Given the description of an element on the screen output the (x, y) to click on. 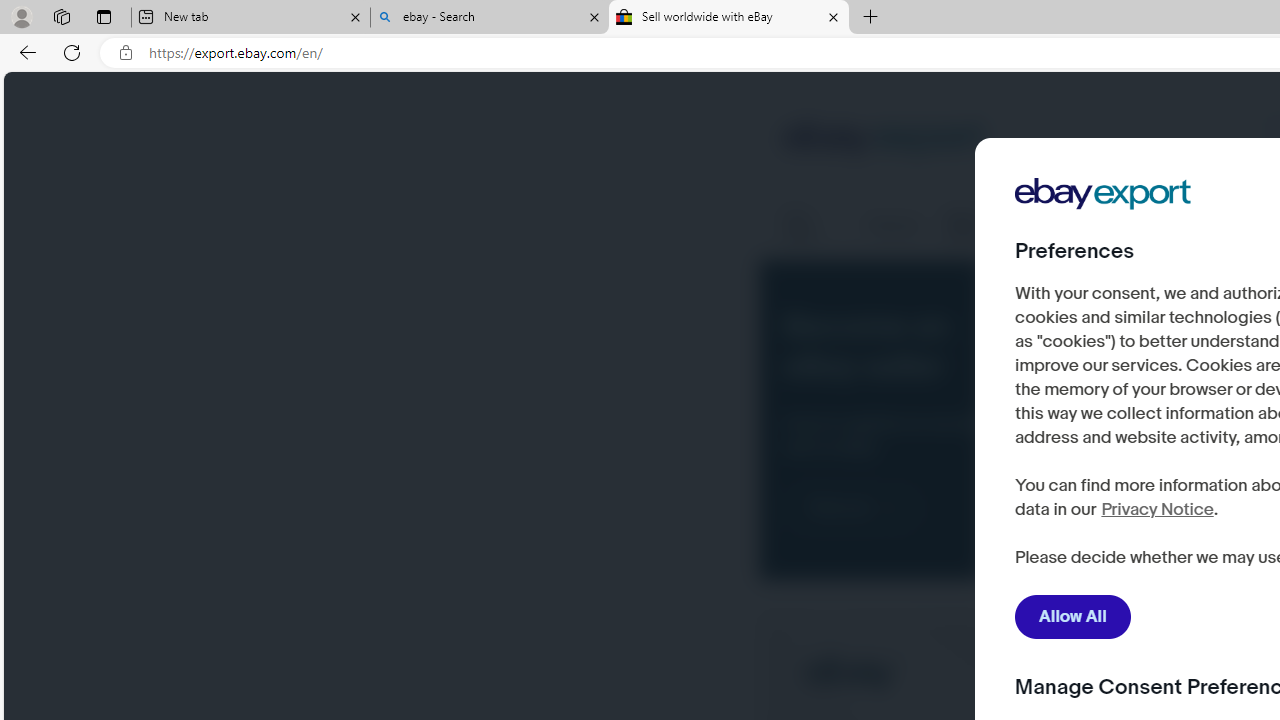
Manage listings (989, 225)
Find out (852, 507)
View site information (125, 53)
Company Logo (1103, 193)
Privacy Notice (1156, 510)
Ebay Export (1110, 255)
